Given the description of an element on the screen output the (x, y) to click on. 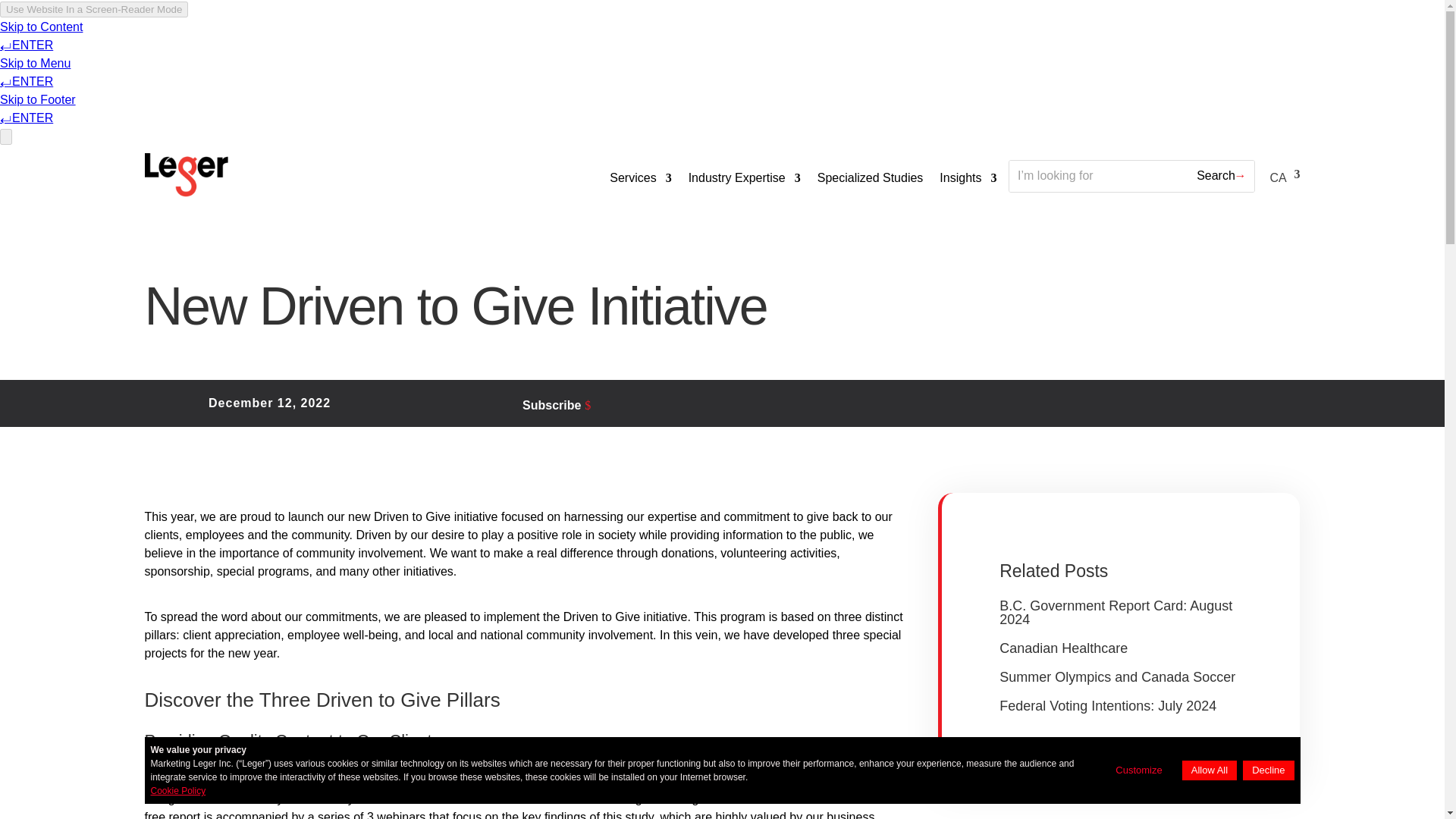
Search (1215, 175)
Search (1215, 175)
Industry Expertise (744, 178)
Insights (967, 178)
Search (1215, 175)
Services (640, 178)
Specialized Studies (869, 178)
